Given the description of an element on the screen output the (x, y) to click on. 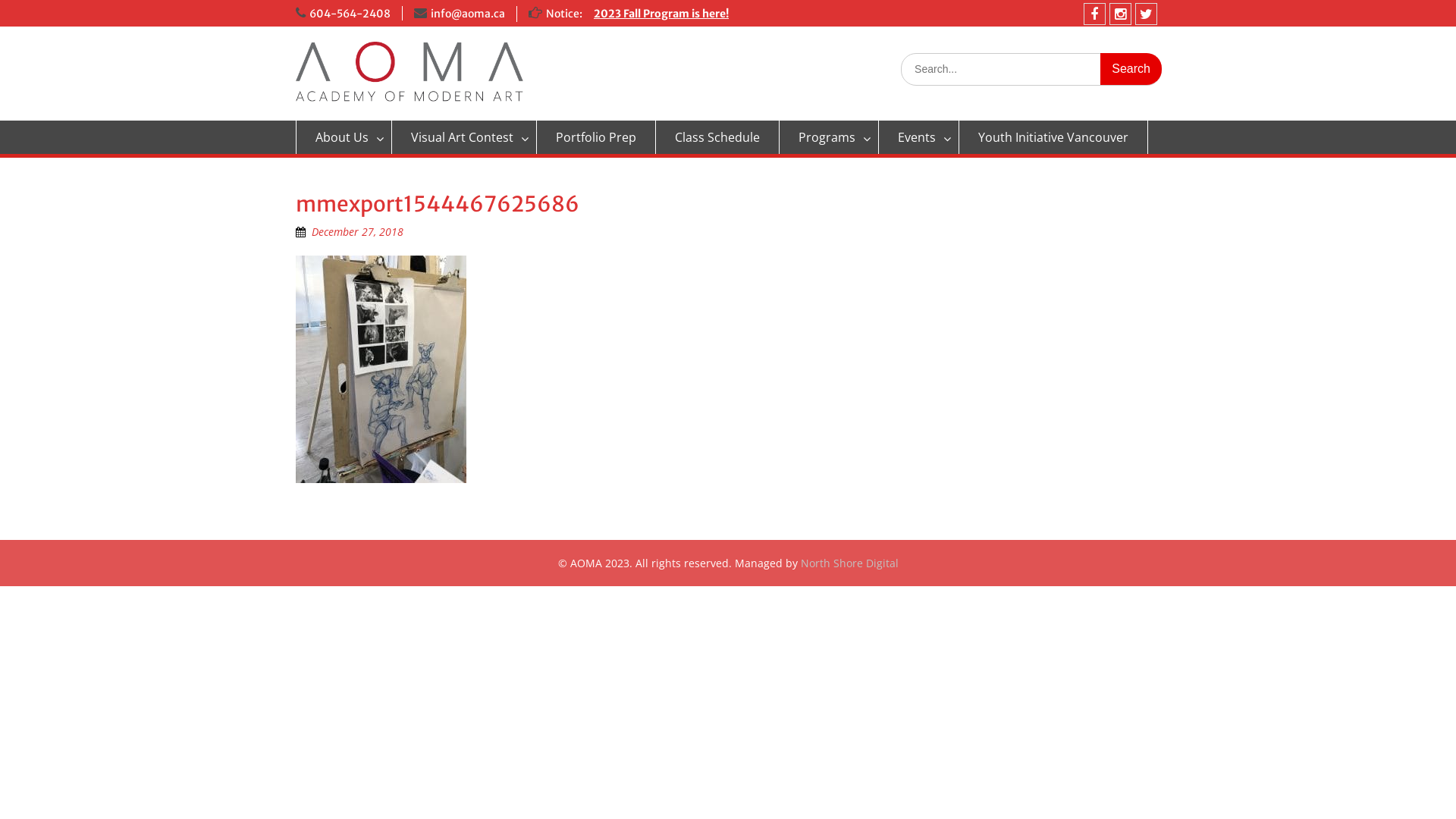
North Shore Digital Element type: text (849, 562)
Search Element type: text (1130, 68)
Instagram Element type: text (1119, 14)
Class Schedule Element type: text (717, 136)
2023 Fall Program is here! Element type: text (660, 13)
Visual Art Contest Element type: text (464, 136)
Search for: Element type: hover (1030, 69)
December 27, 2018 Element type: text (357, 231)
Youth Initiative Vancouver Element type: text (1053, 136)
Programs Element type: text (828, 136)
About Us Element type: text (343, 136)
info@aoma.ca Element type: text (467, 13)
Twitter Element type: text (1145, 14)
Portfolio Prep Element type: text (595, 136)
Events Element type: text (918, 136)
Facebook Element type: text (1093, 14)
604-564-2408 Element type: text (349, 13)
